Given the description of an element on the screen output the (x, y) to click on. 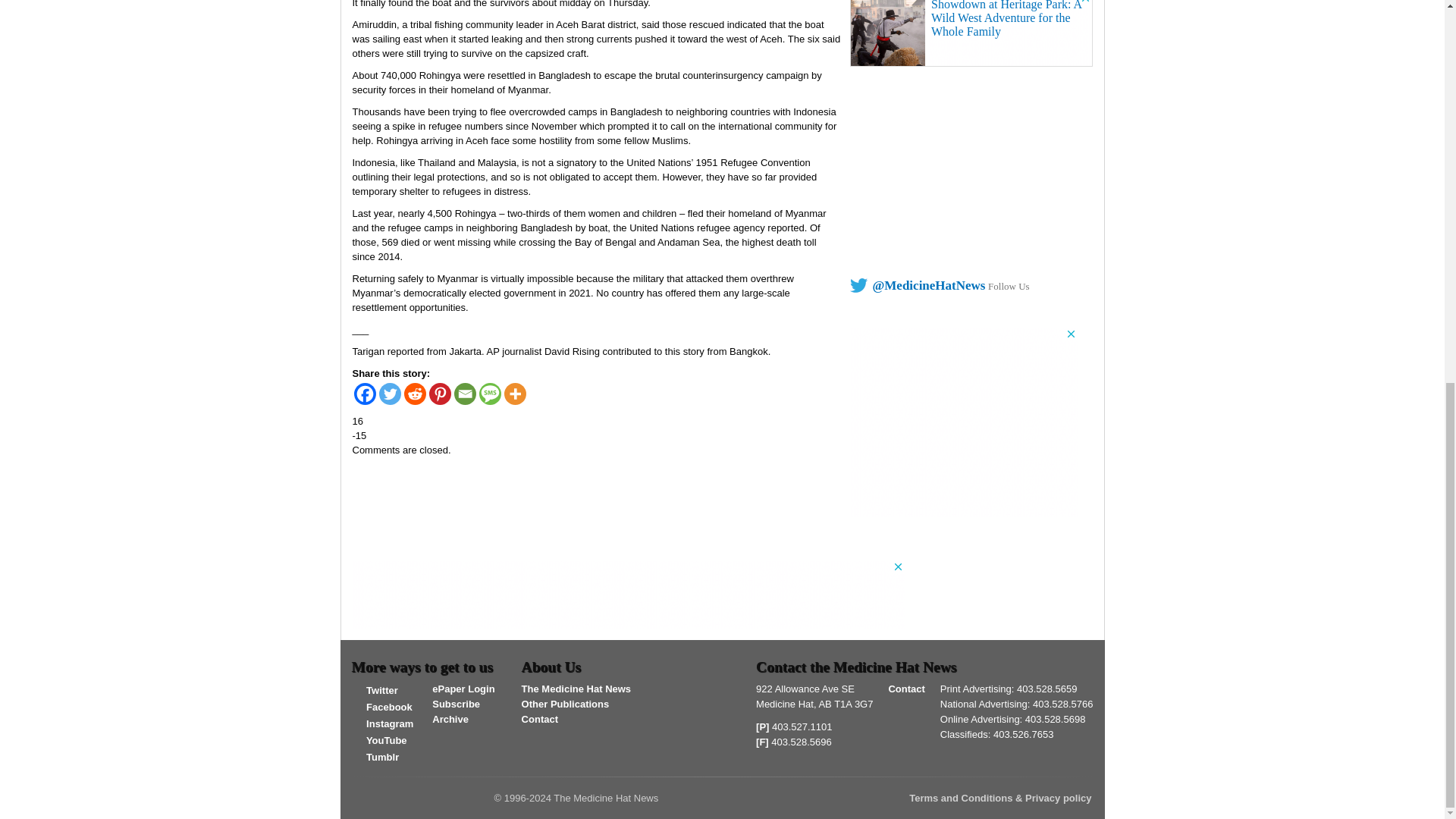
Pinterest (440, 393)
3rd party ad content (970, 33)
SMS (489, 393)
3rd party ad content (962, 421)
Facebook (364, 393)
Reddit (414, 393)
3rd party ad content (962, 168)
More (514, 393)
Twitter (389, 393)
Email (464, 393)
3rd party ad content (628, 594)
